Given the description of an element on the screen output the (x, y) to click on. 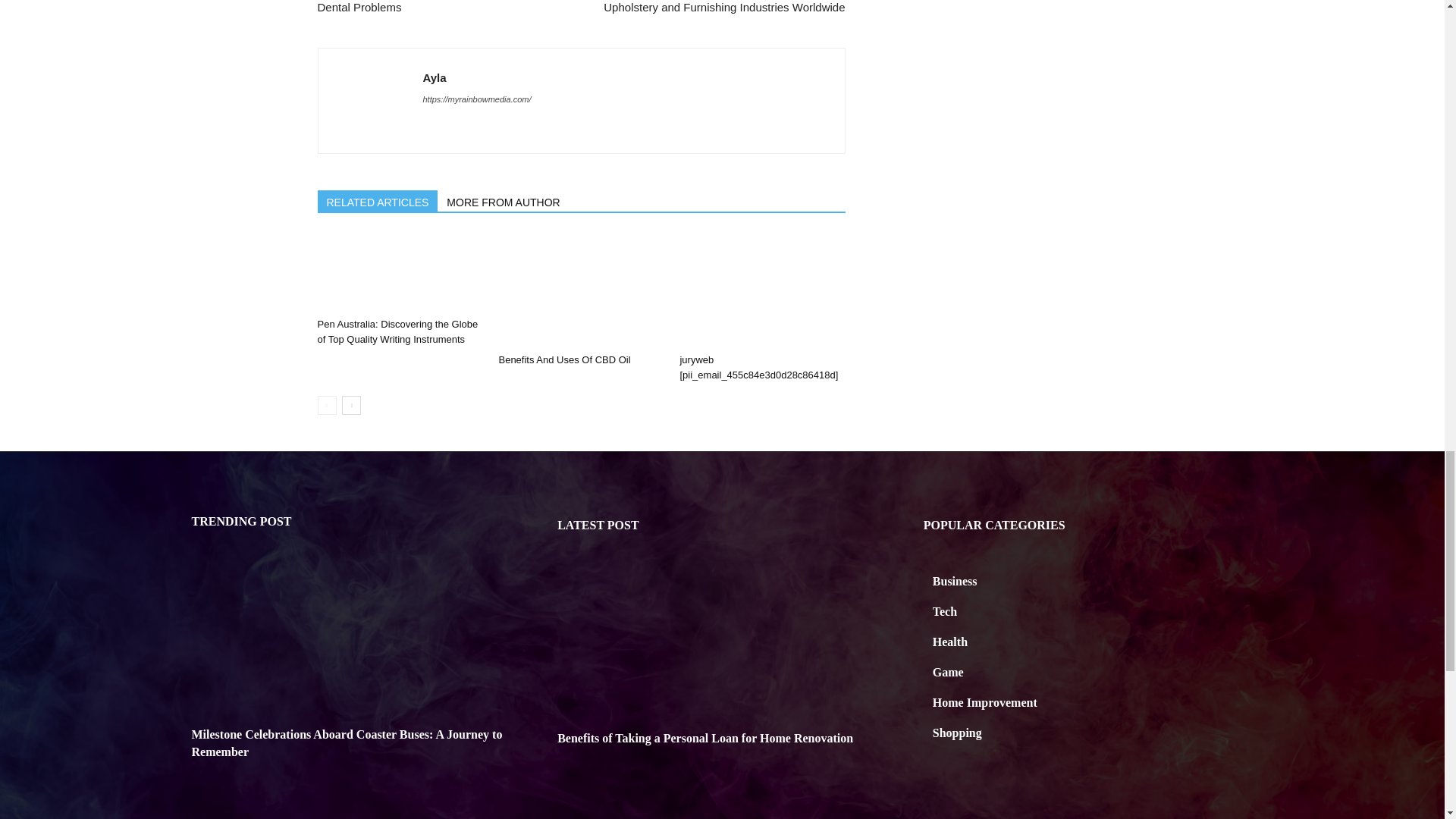
Benefits And Uses Of CBD Oil (580, 290)
